Given the description of an element on the screen output the (x, y) to click on. 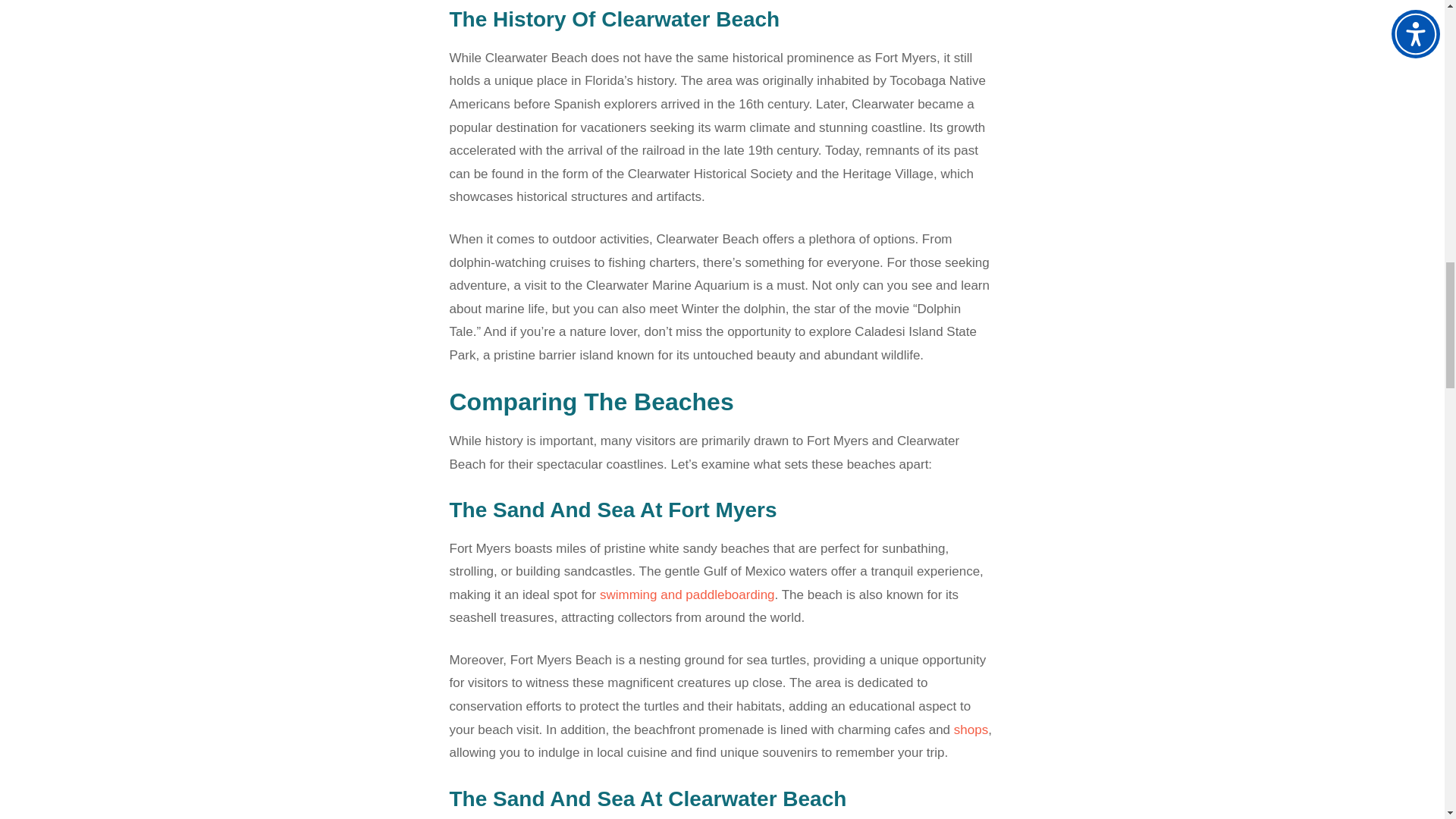
shops (970, 729)
swimming and paddleboarding (686, 594)
